Given the description of an element on the screen output the (x, y) to click on. 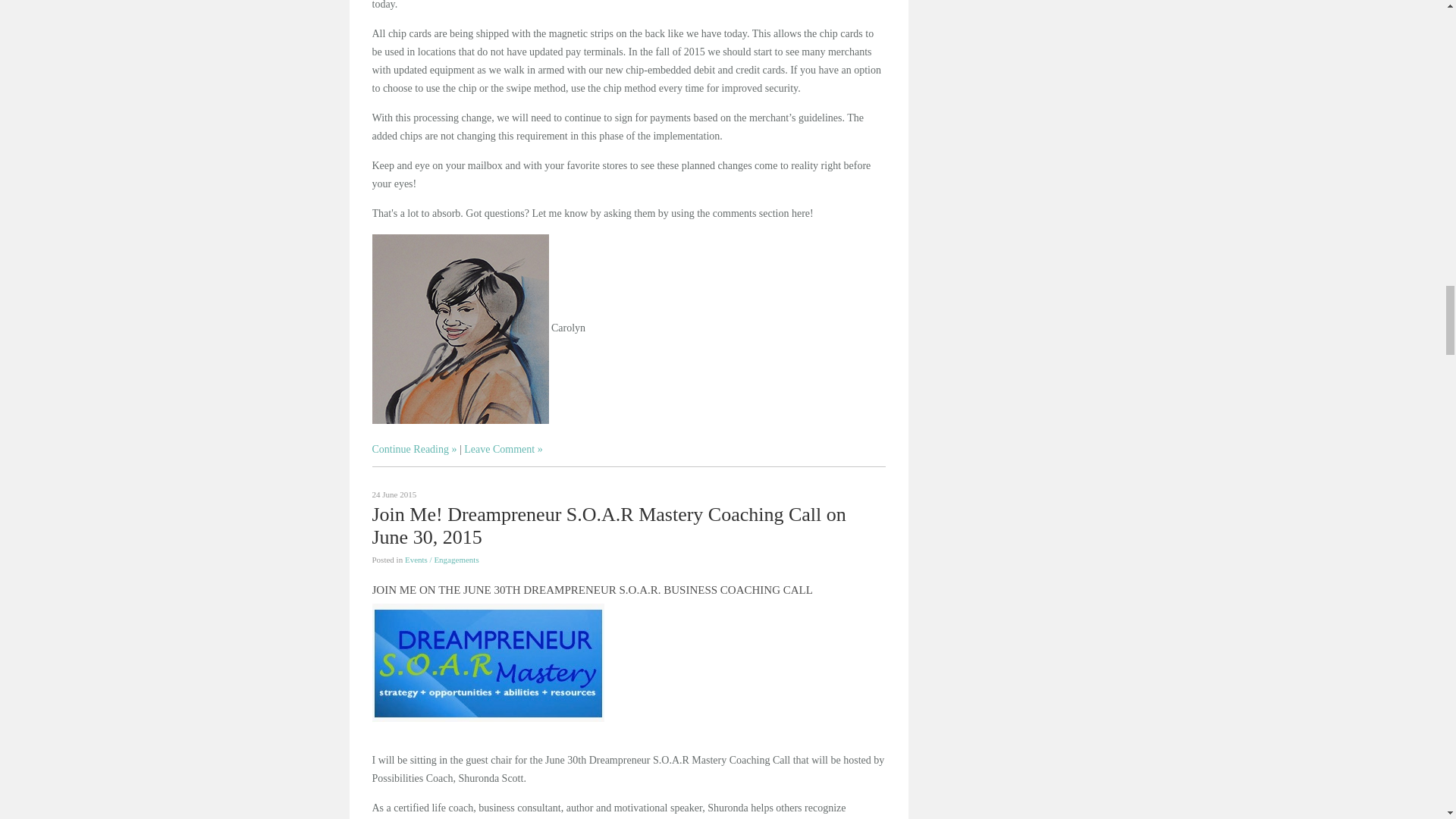
Leave Comment (502, 448)
Continue Reading (414, 448)
